Given the description of an element on the screen output the (x, y) to click on. 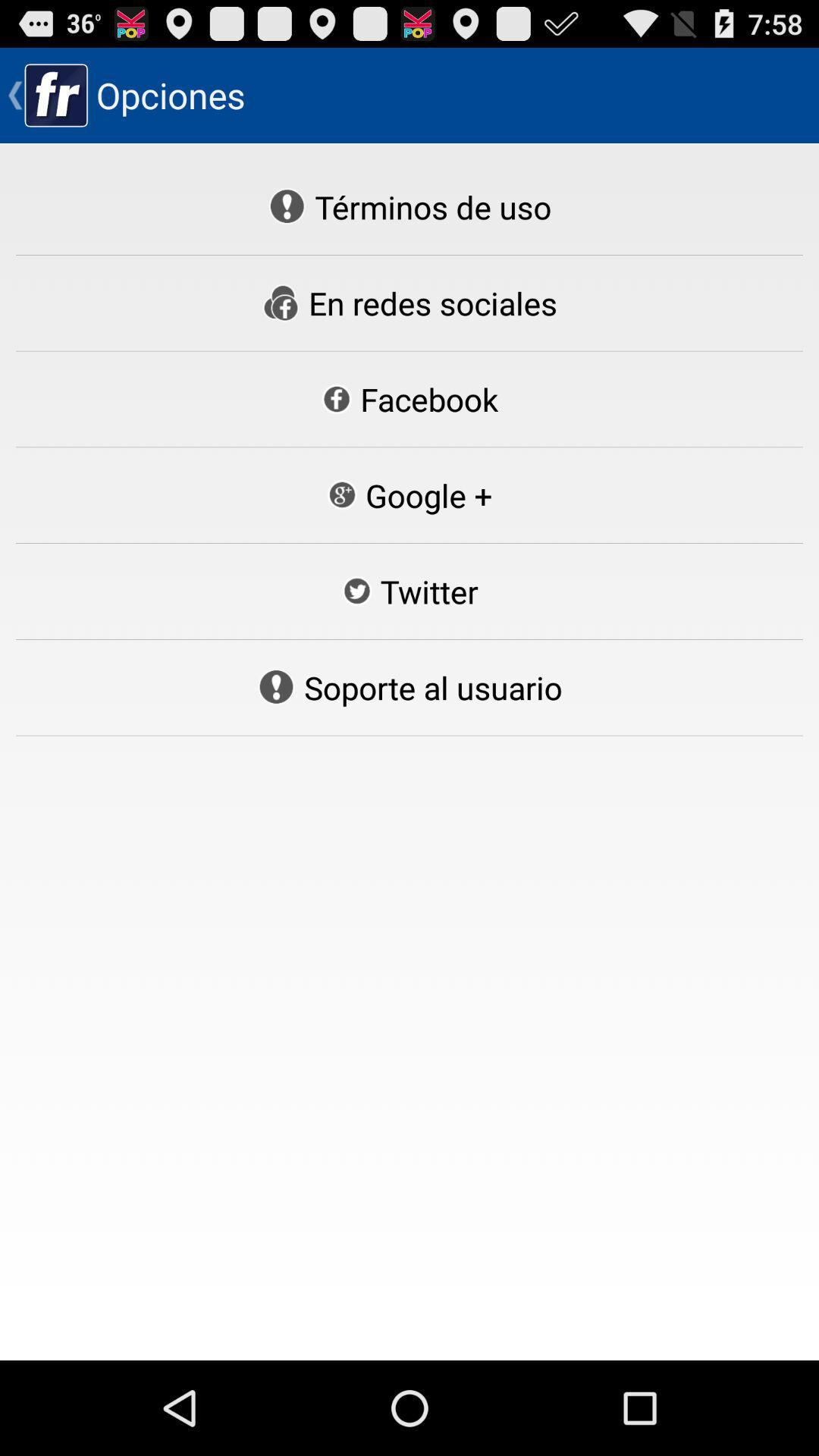
scroll until soporte al usuario button (409, 687)
